Given the description of an element on the screen output the (x, y) to click on. 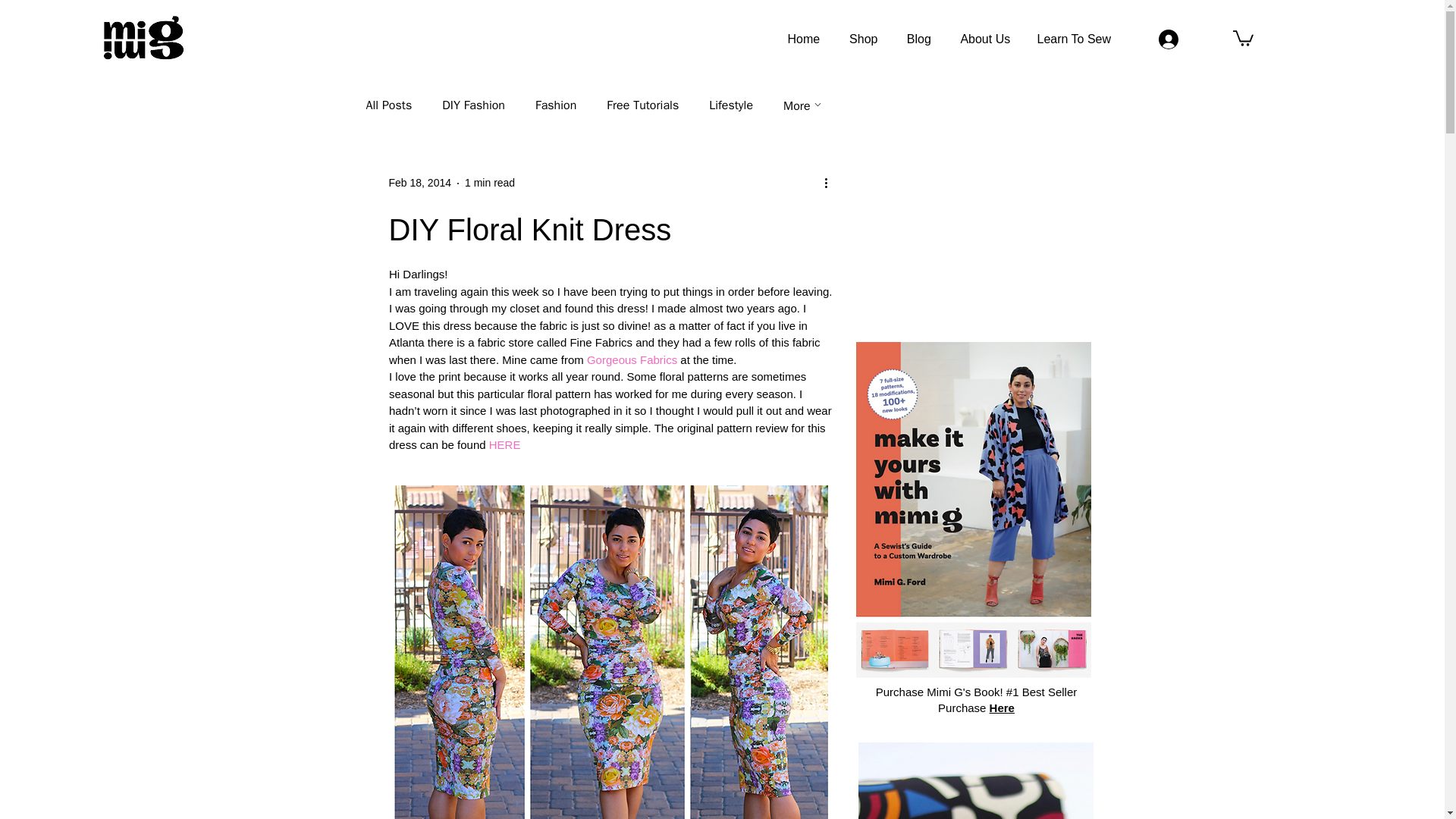
1 min read (489, 182)
HERE (503, 444)
Shop (862, 39)
Home (802, 39)
About Us (984, 39)
Log In (1190, 39)
2.png (976, 780)
Feb 18, 2014 (419, 182)
0 (1243, 36)
All Posts (388, 105)
Lifestyle (730, 105)
Blog (917, 39)
Fashion (555, 105)
Learn To Sew (1073, 39)
Free Tutorials (642, 105)
